Given the description of an element on the screen output the (x, y) to click on. 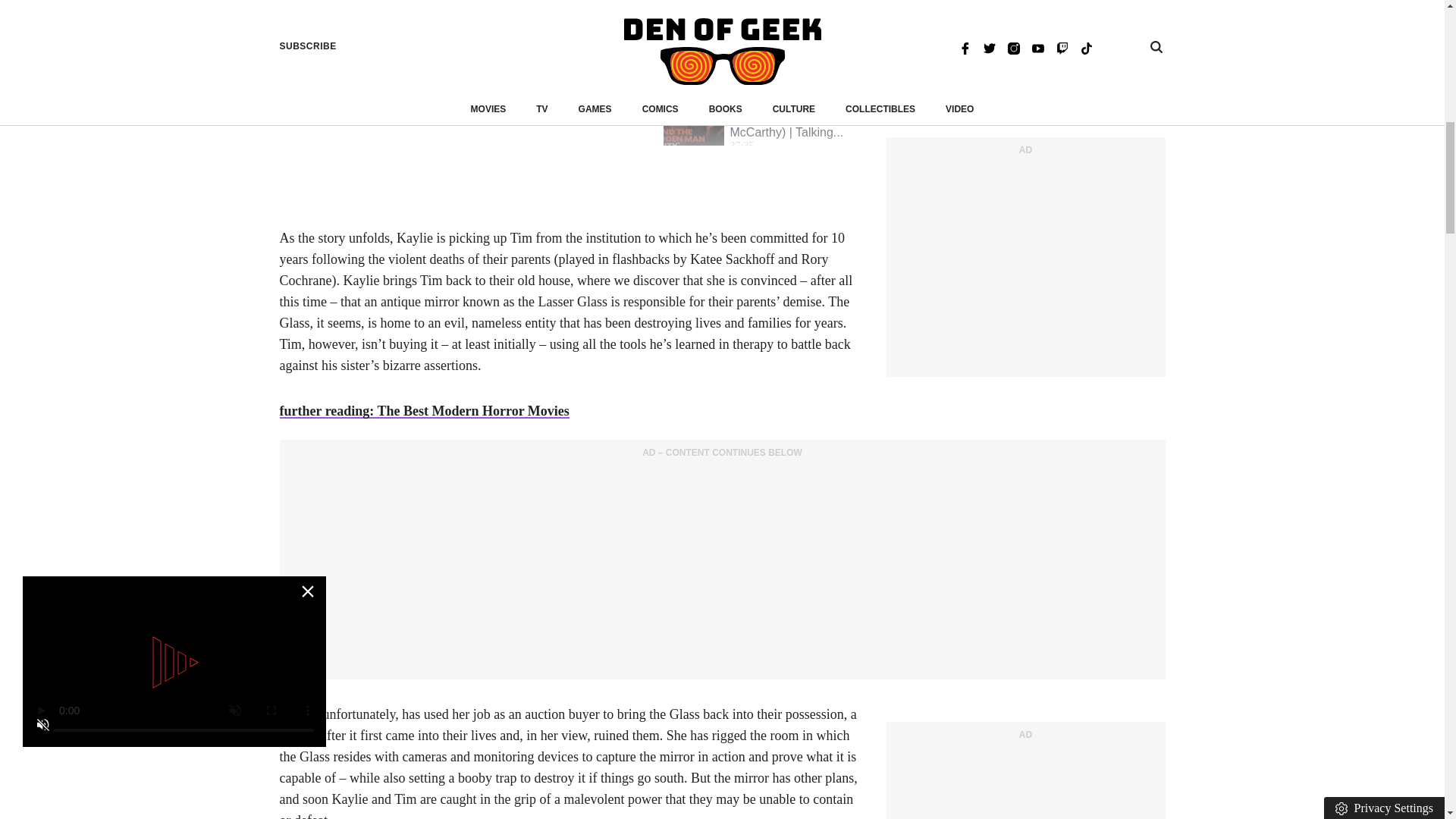
further reading: The Best Modern Horror Movies (424, 410)
The Best Modern Horror Movies (424, 410)
